Given the description of an element on the screen output the (x, y) to click on. 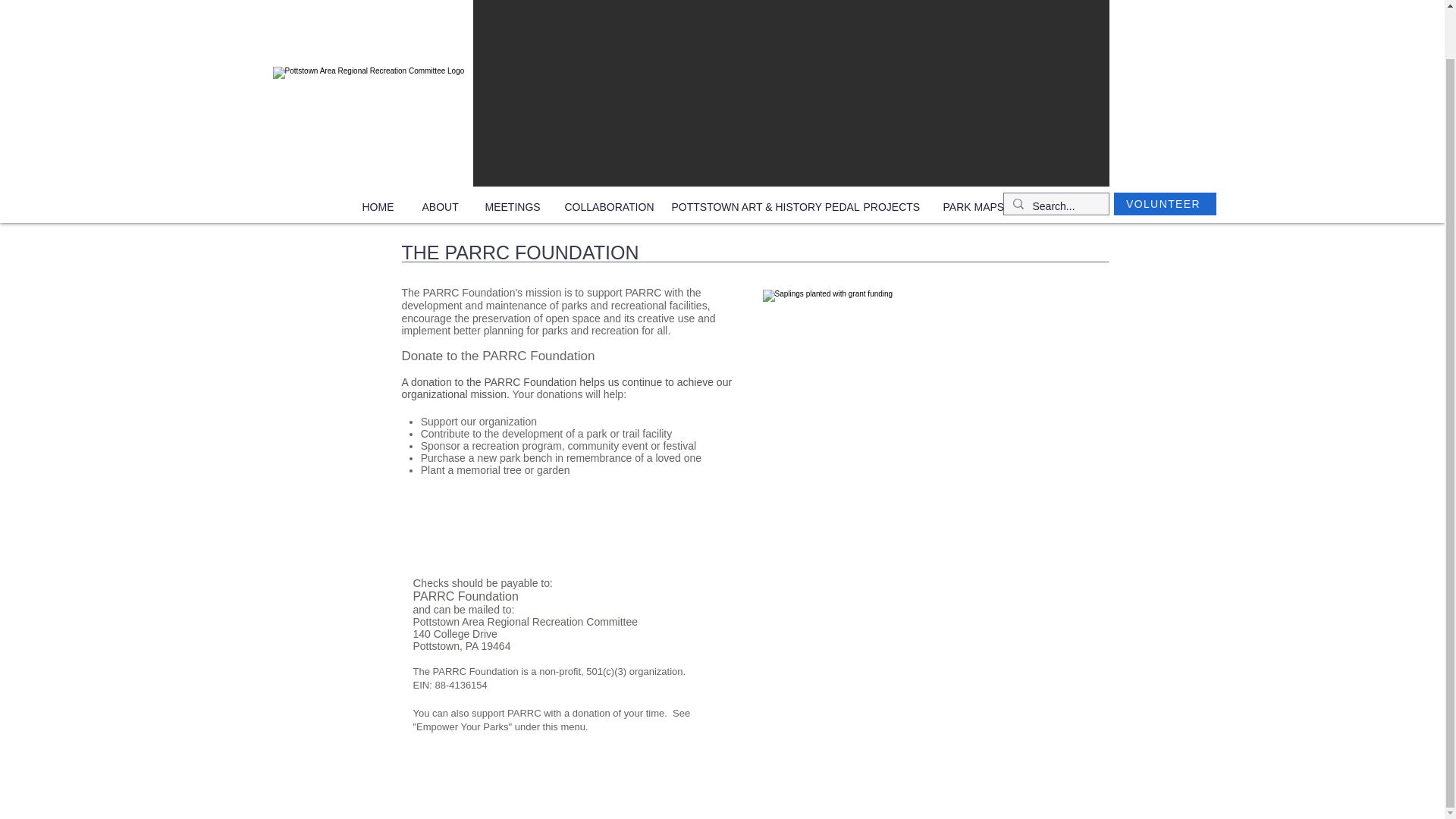
HOME (380, 206)
ABOUT (442, 206)
COLLABORATION (607, 206)
PARK MAPS (973, 206)
MEETINGS (513, 206)
PROJECTS (891, 206)
